Given the description of an element on the screen output the (x, y) to click on. 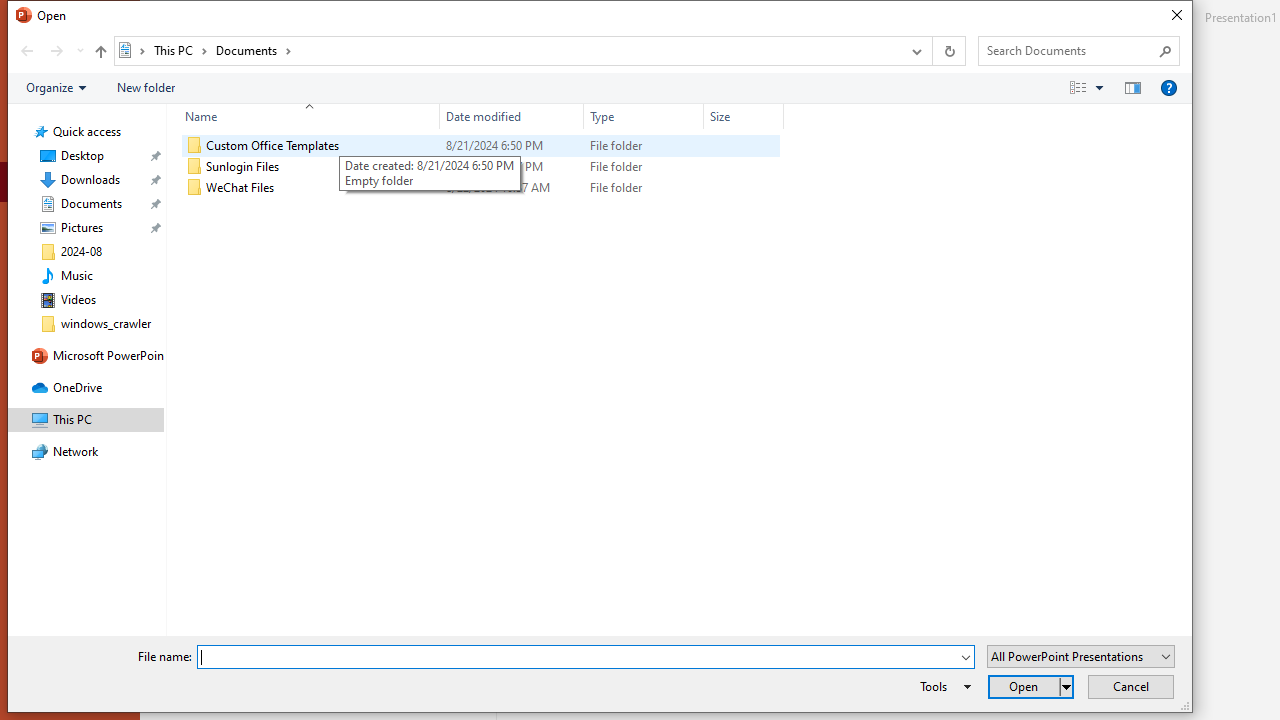
WeChat Files (480, 187)
Custom Office Templates (480, 145)
Previous Locations (914, 51)
Refresh "Documents" (F5) (948, 51)
Forward (Alt + Right Arrow) (56, 51)
Address band toolbar (931, 51)
Sunlogin Files (480, 166)
Views (1090, 87)
Organize (56, 87)
Up band toolbar (100, 54)
Size (743, 115)
Address: Documents (506, 51)
File name: (577, 657)
Documents (253, 50)
